Given the description of an element on the screen output the (x, y) to click on. 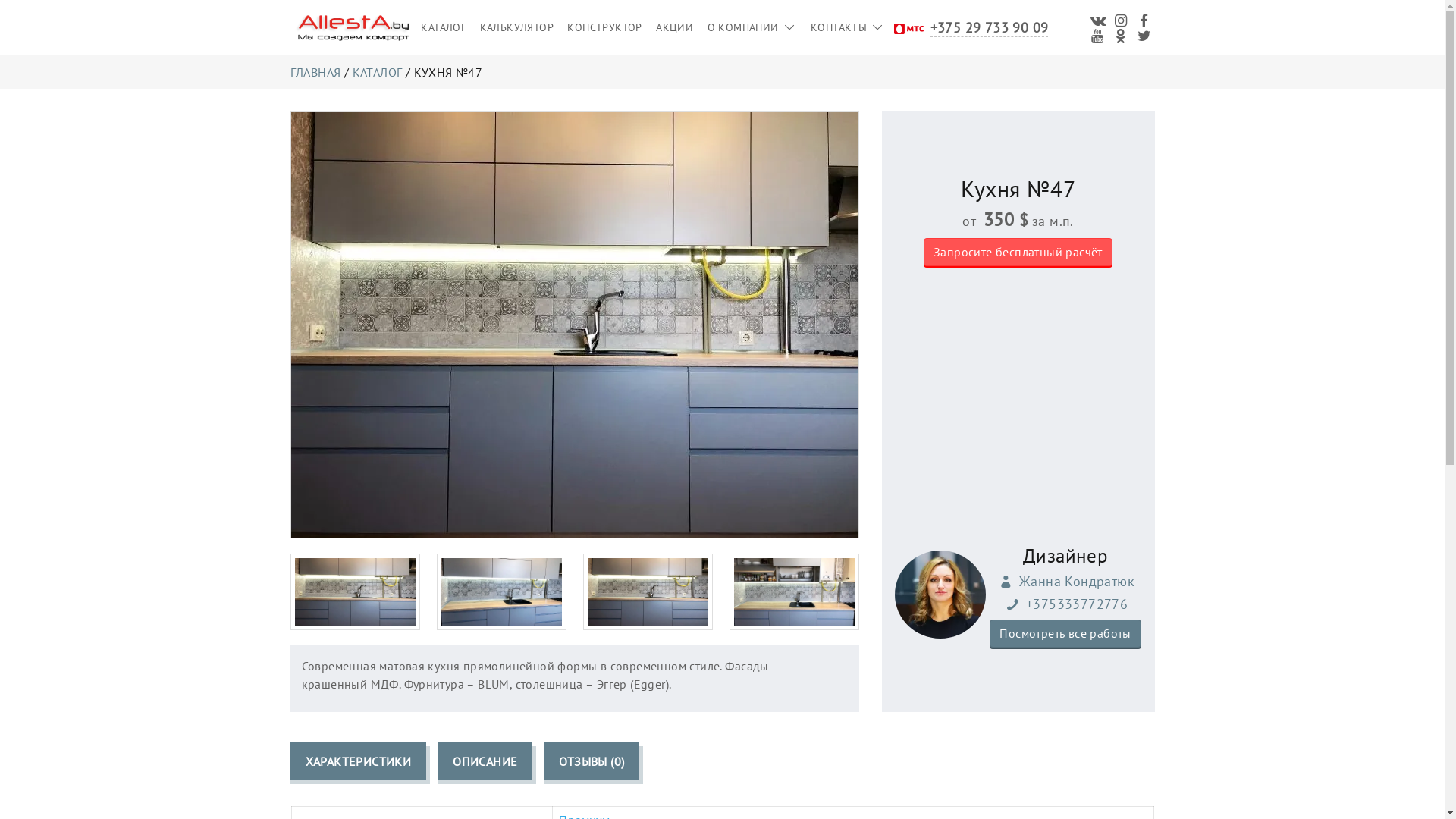
IMG_7039 Element type: hover (501, 591)
+375 29 733 90 09 Element type: text (989, 27)
+375333772776 Element type: text (1065, 603)
IMG_7041 Element type: hover (794, 591)
IMG_7040 Element type: hover (574, 324)
IMG_7040 Element type: hover (354, 591)
IMG_7040 Element type: hover (646, 591)
